Given the description of an element on the screen output the (x, y) to click on. 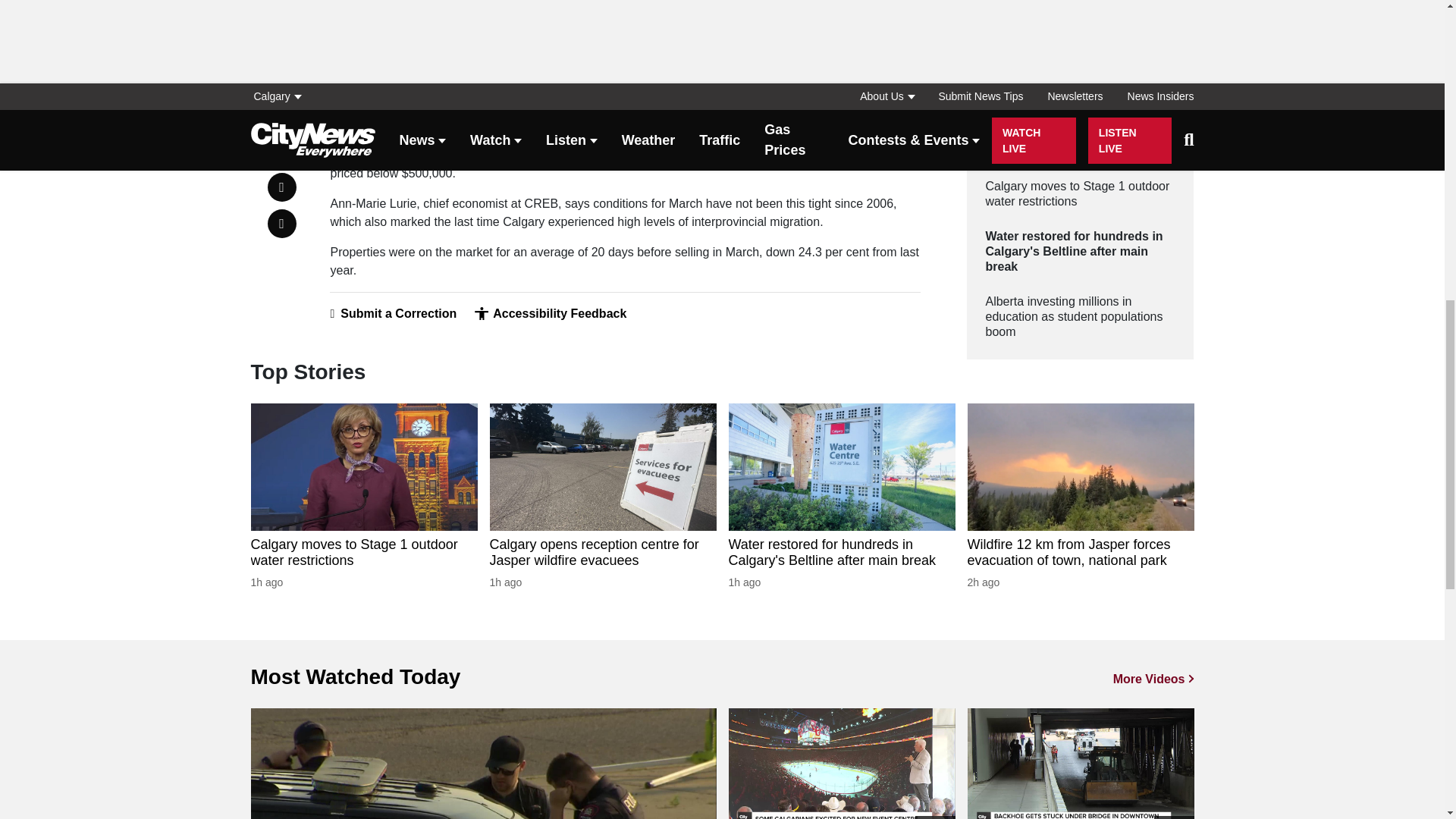
Submit a Correction (393, 313)
Accessibility Feedback (550, 313)
